Given the description of an element on the screen output the (x, y) to click on. 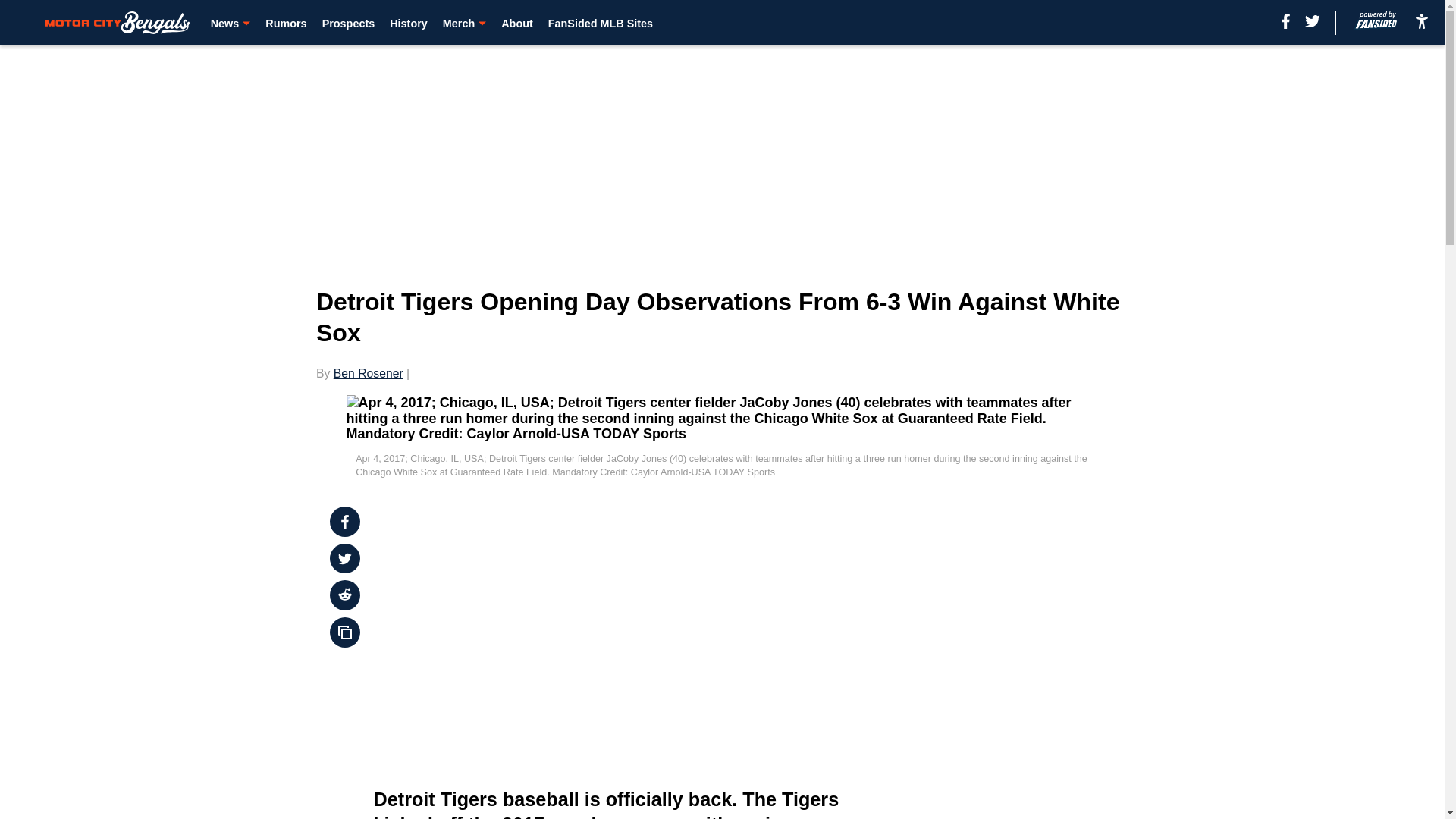
Rumors (284, 23)
Ben Rosener (368, 373)
About (516, 23)
History (409, 23)
Prospects (348, 23)
FanSided MLB Sites (600, 23)
